Given the description of an element on the screen output the (x, y) to click on. 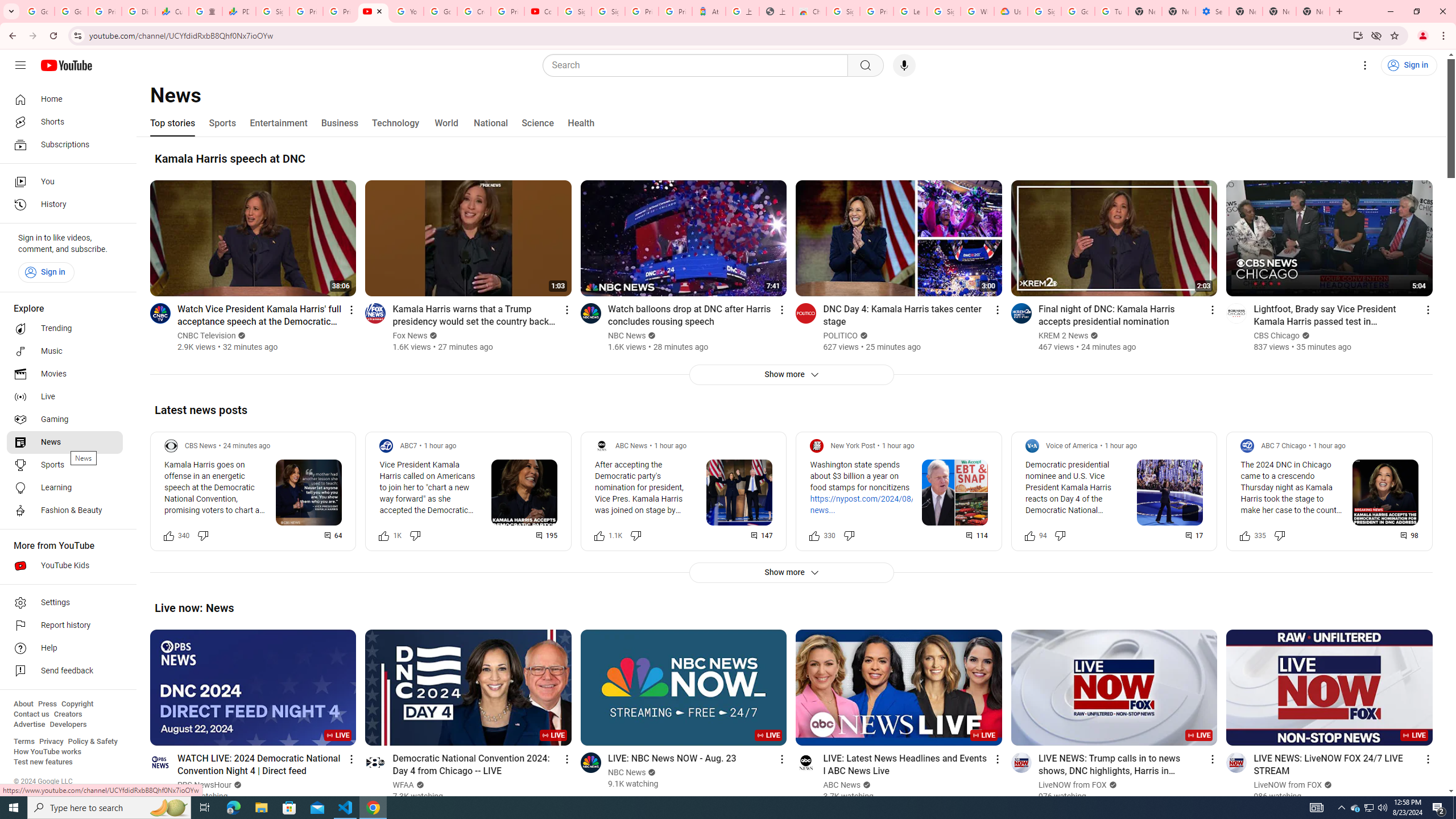
Creators (67, 714)
Google Account Help (441, 11)
Sports (221, 122)
Subscriptions (64, 144)
Install YouTube (1358, 35)
Create your Google Account (474, 11)
New York Post (852, 445)
Sports (64, 464)
Test new features (42, 761)
Like this post along with 330 other people (814, 534)
